Given the description of an element on the screen output the (x, y) to click on. 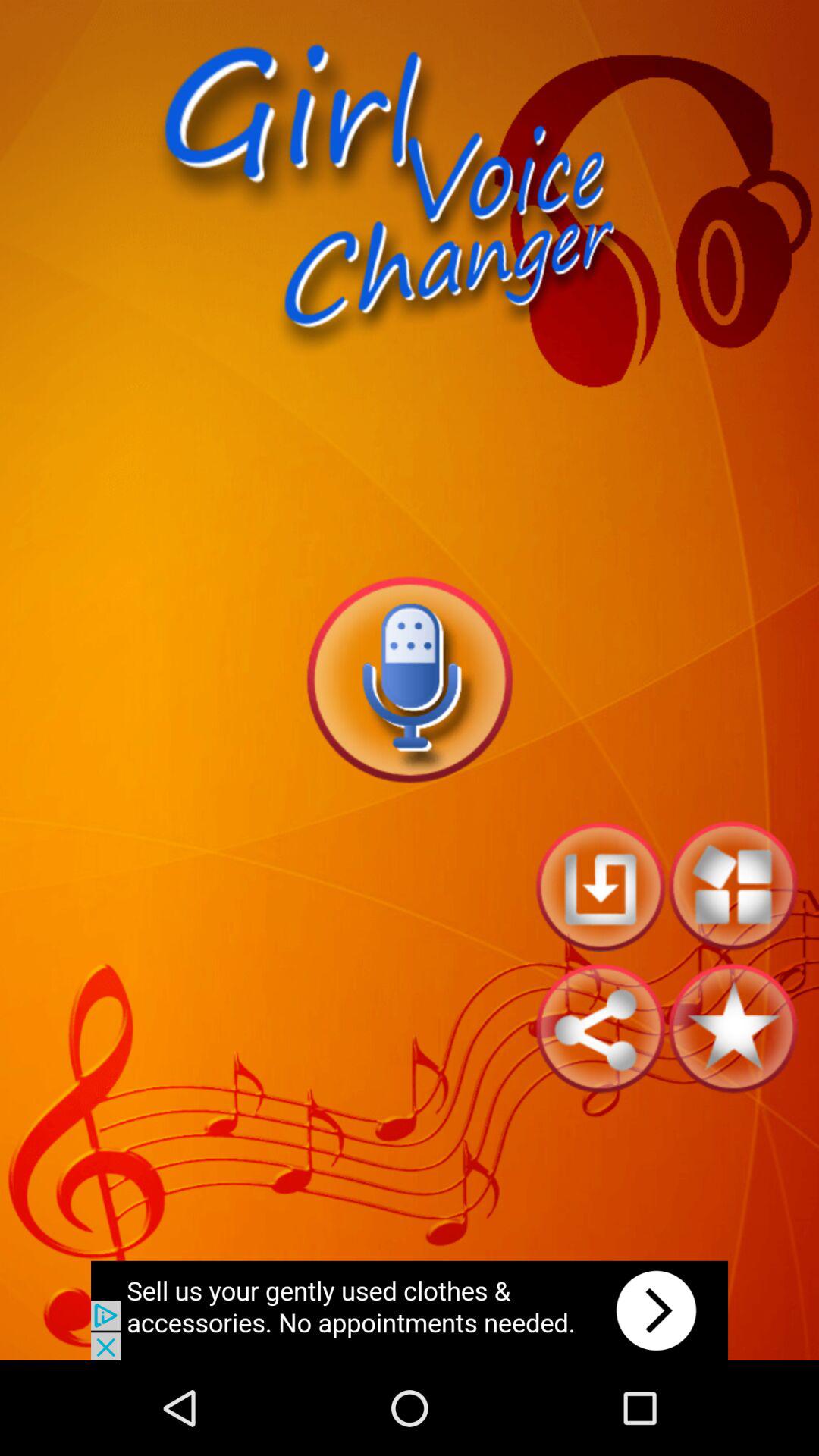
switch recording option (408, 679)
